Given the description of an element on the screen output the (x, y) to click on. 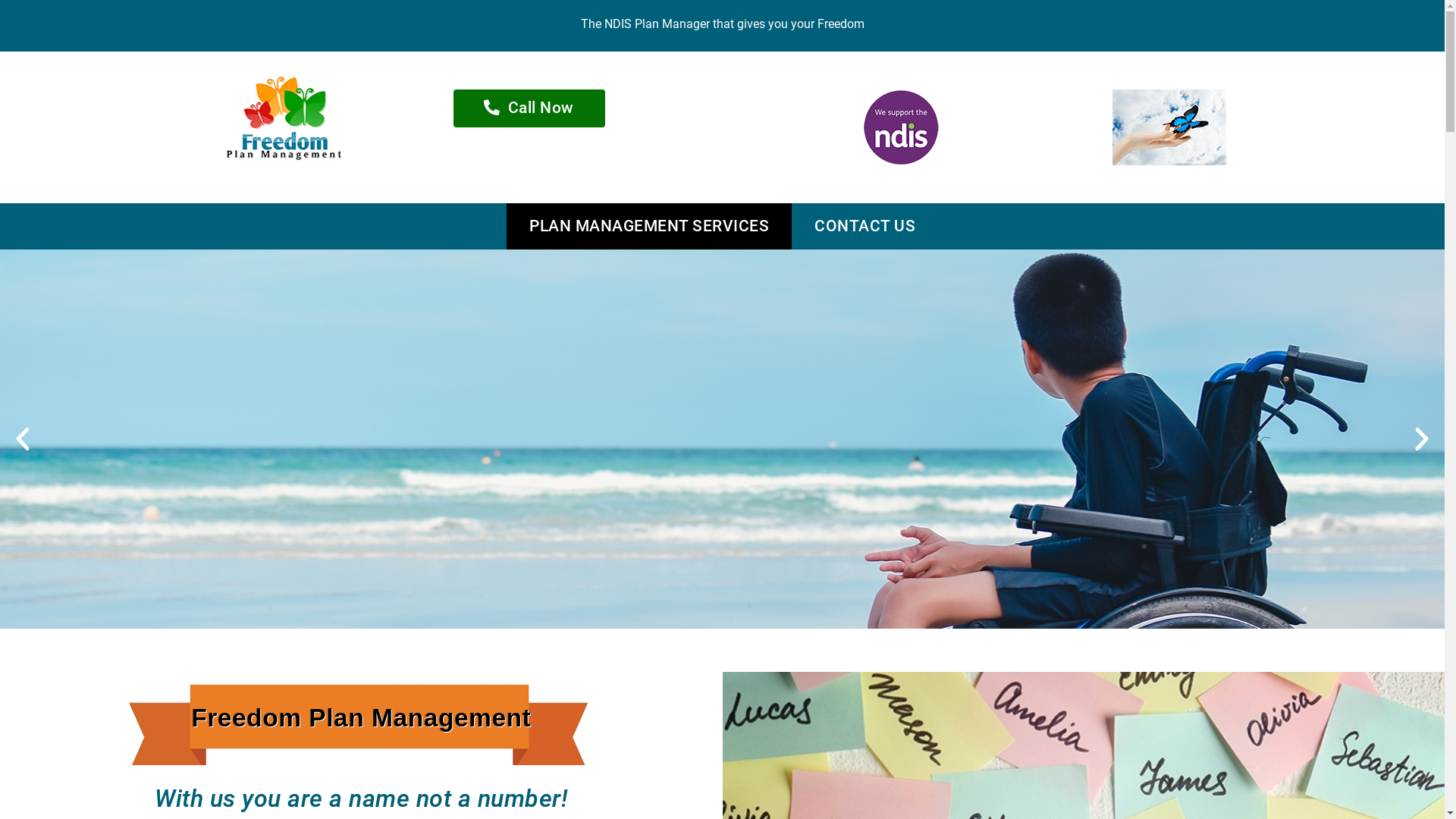
CONTACT US Element type: text (864, 226)
PLAN MANAGEMENT SERVICES Element type: text (648, 226)
Call Now Element type: text (529, 108)
